Given the description of an element on the screen output the (x, y) to click on. 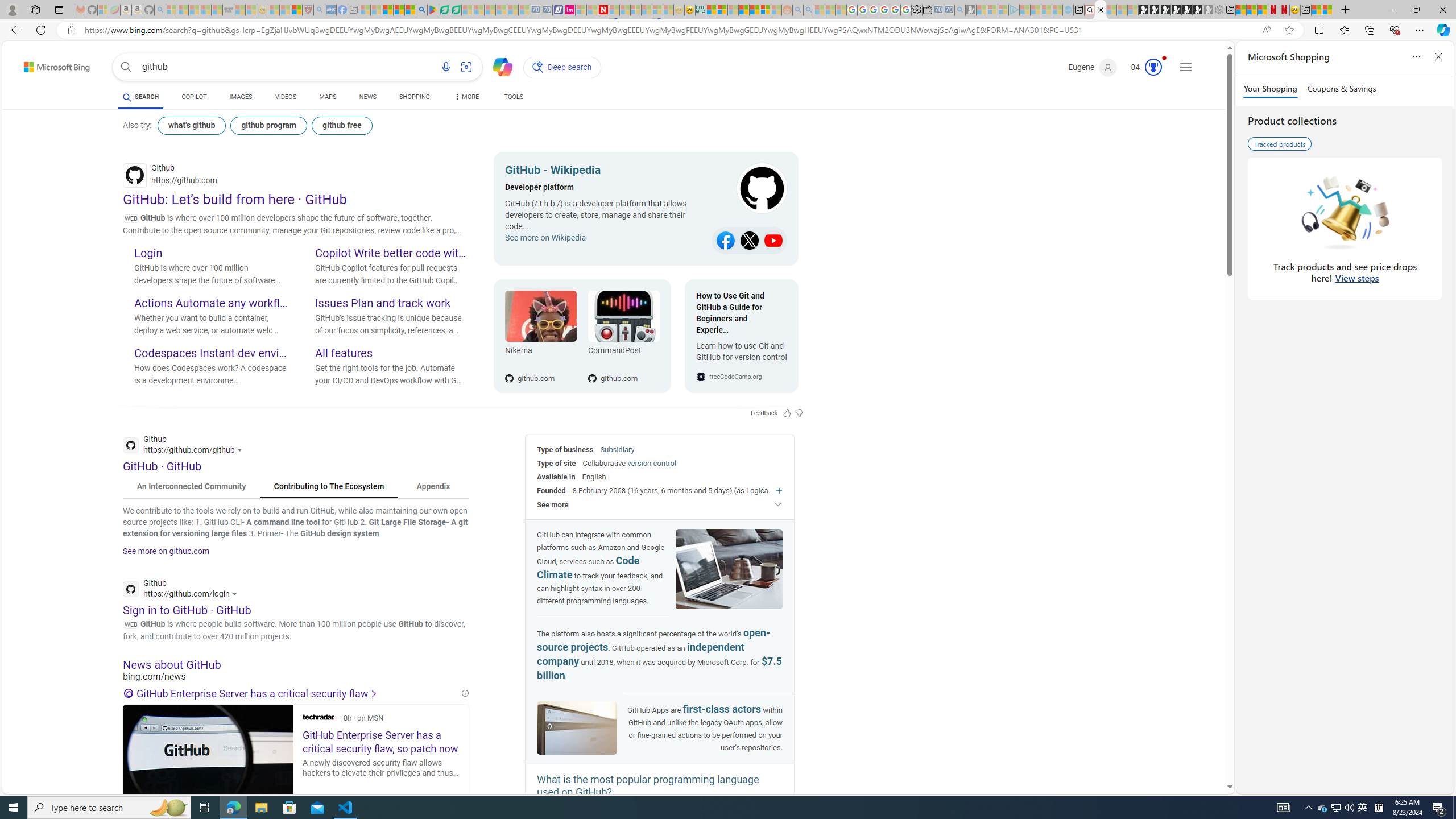
Login (210, 254)
MORE (465, 98)
Github (182, 589)
